Given the description of an element on the screen output the (x, y) to click on. 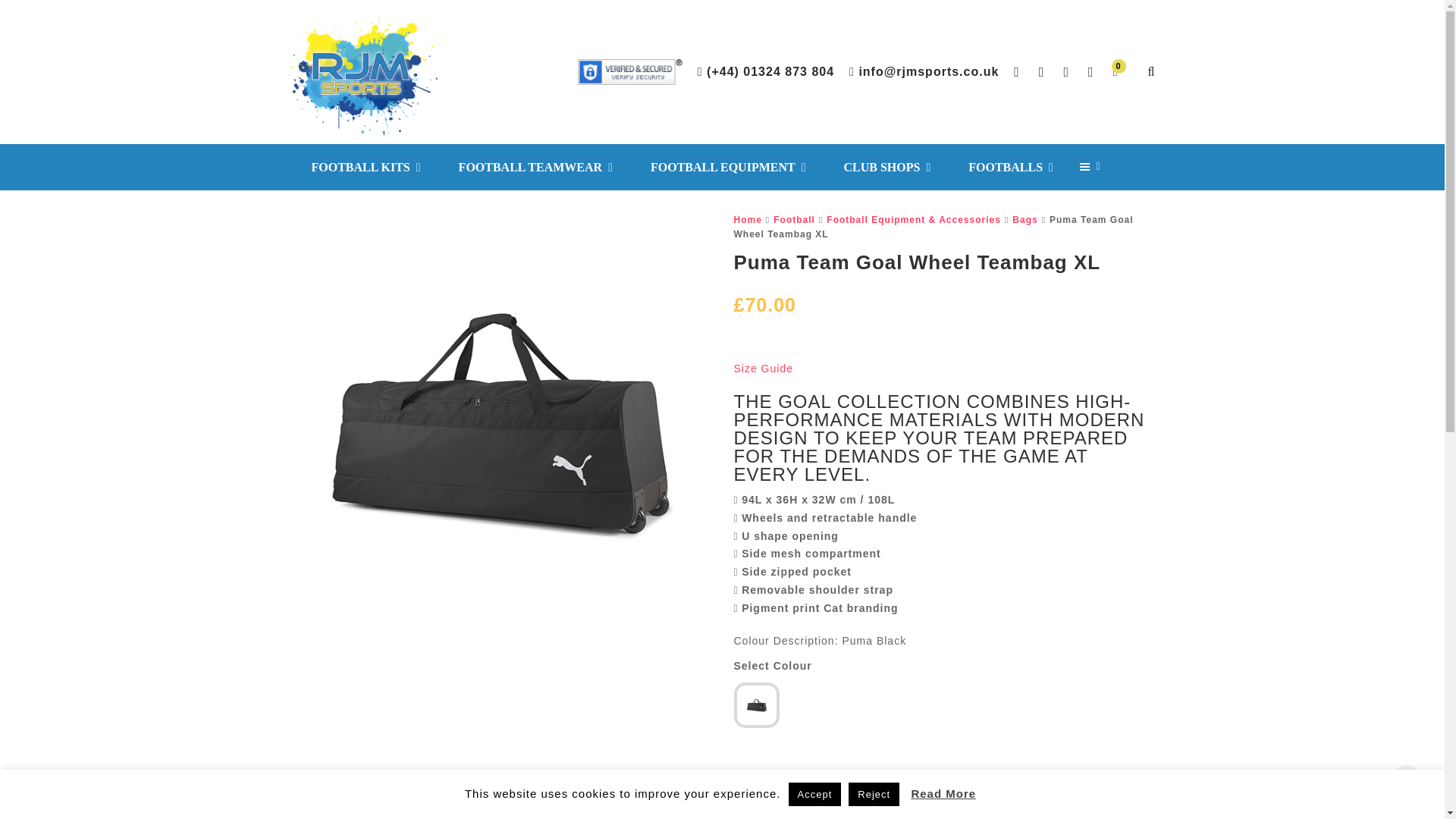
Back to top (1406, 779)
FOOTBALL TEAMWEAR (535, 166)
FOOTBALL KITS (365, 166)
